Given the description of an element on the screen output the (x, y) to click on. 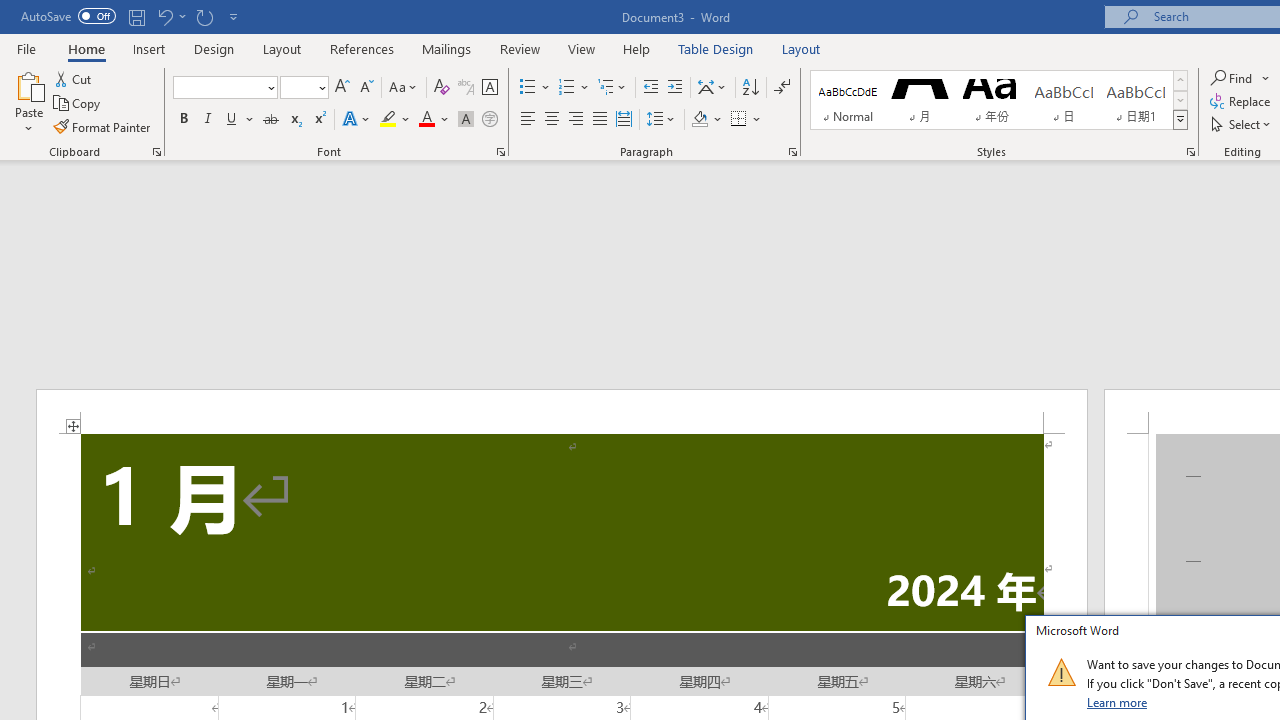
Copy (78, 103)
View (582, 48)
Font Color RGB(255, 0, 0) (426, 119)
Shrink Font (365, 87)
Italic (207, 119)
Row Down (1179, 100)
Open (320, 87)
Class: NetUIImage (1061, 671)
Paragraph... (792, 151)
Borders (739, 119)
Distributed (623, 119)
Character Border (489, 87)
Subscript (294, 119)
